Given the description of an element on the screen output the (x, y) to click on. 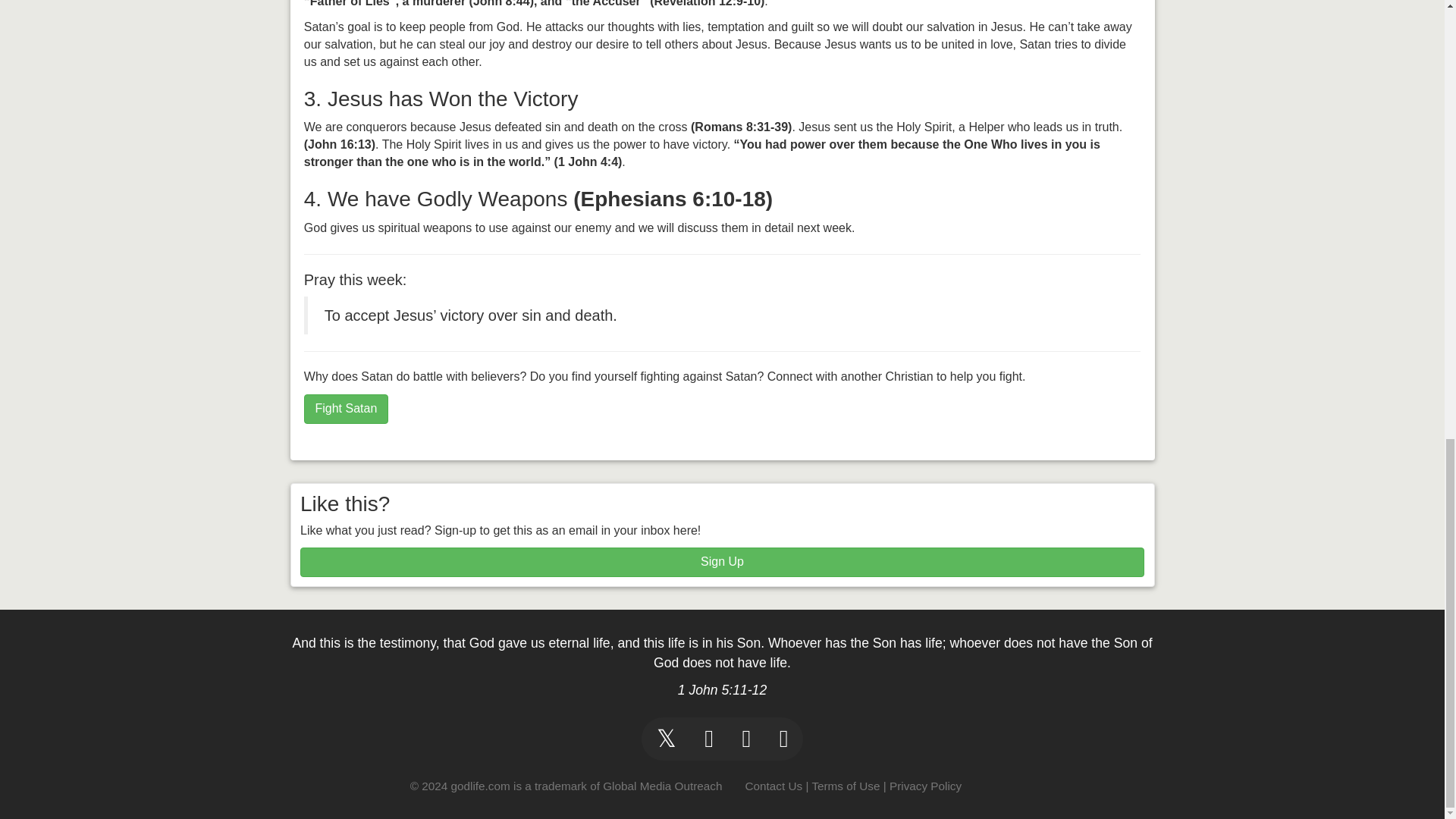
Sign Up (721, 562)
Fight Satan (346, 408)
Contact Us (773, 785)
Privacy Policy (924, 785)
Terms of Use (844, 785)
